Given the description of an element on the screen output the (x, y) to click on. 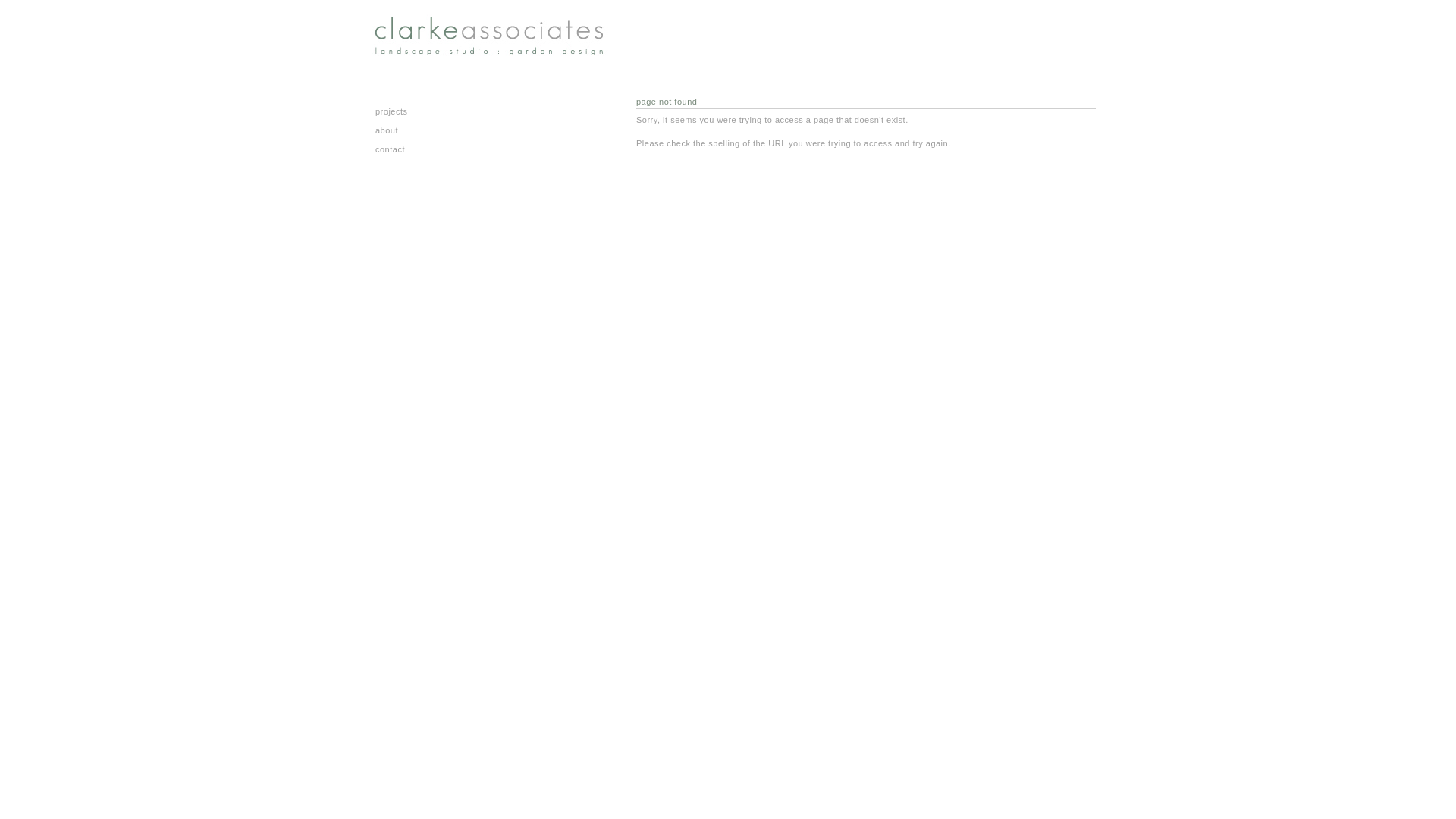
about Element type: text (473, 129)
contact Element type: text (473, 148)
projects Element type: text (473, 110)
